Given the description of an element on the screen output the (x, y) to click on. 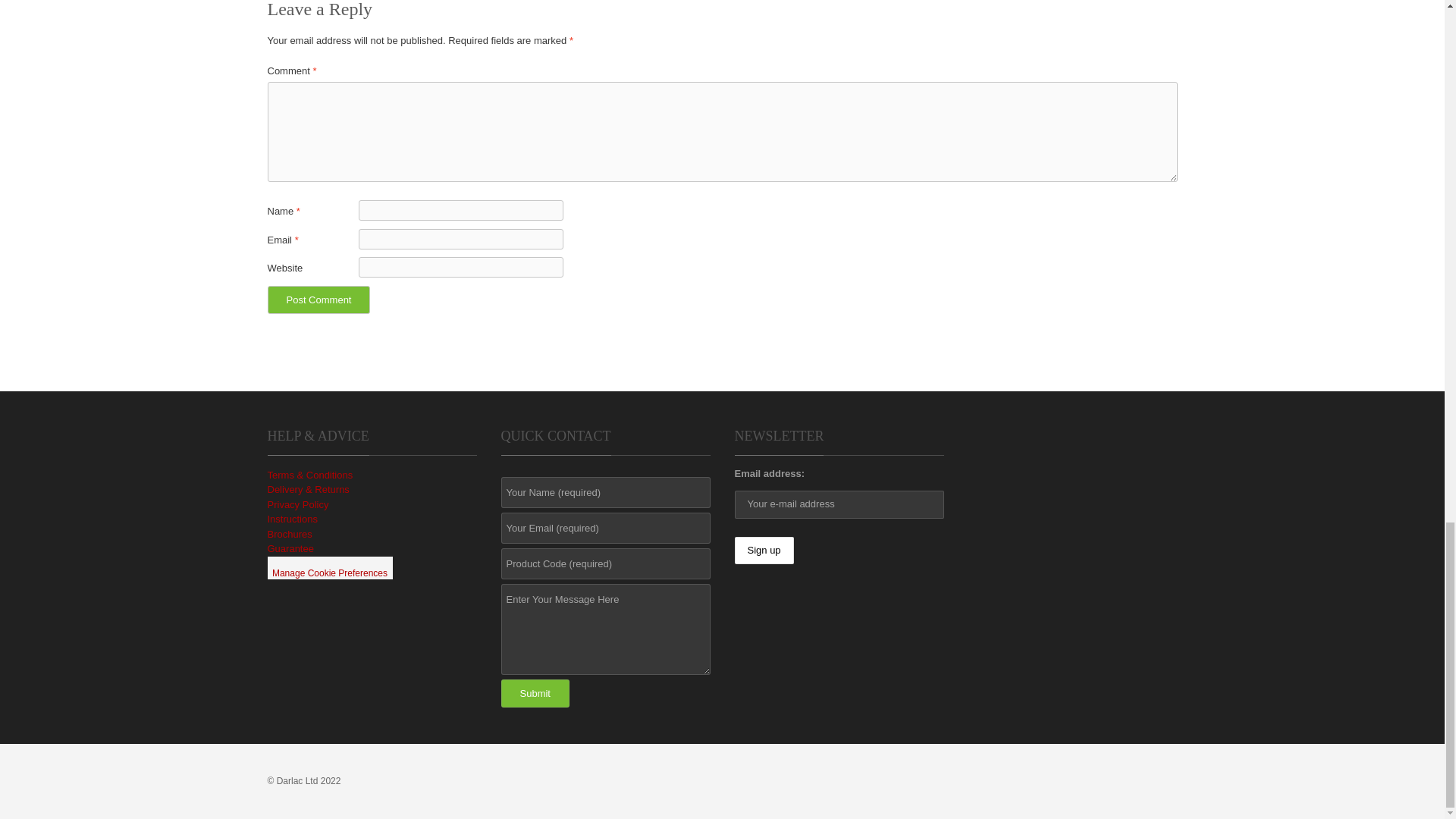
Instructions (291, 518)
Submit (534, 693)
Guarantee (289, 548)
Post Comment (317, 299)
Privacy Policy (297, 504)
Brochures (288, 533)
Sign up (763, 551)
Sign up (763, 551)
Post Comment (317, 299)
Manage Cookie Preferences (328, 567)
Submit (534, 693)
